Given the description of an element on the screen output the (x, y) to click on. 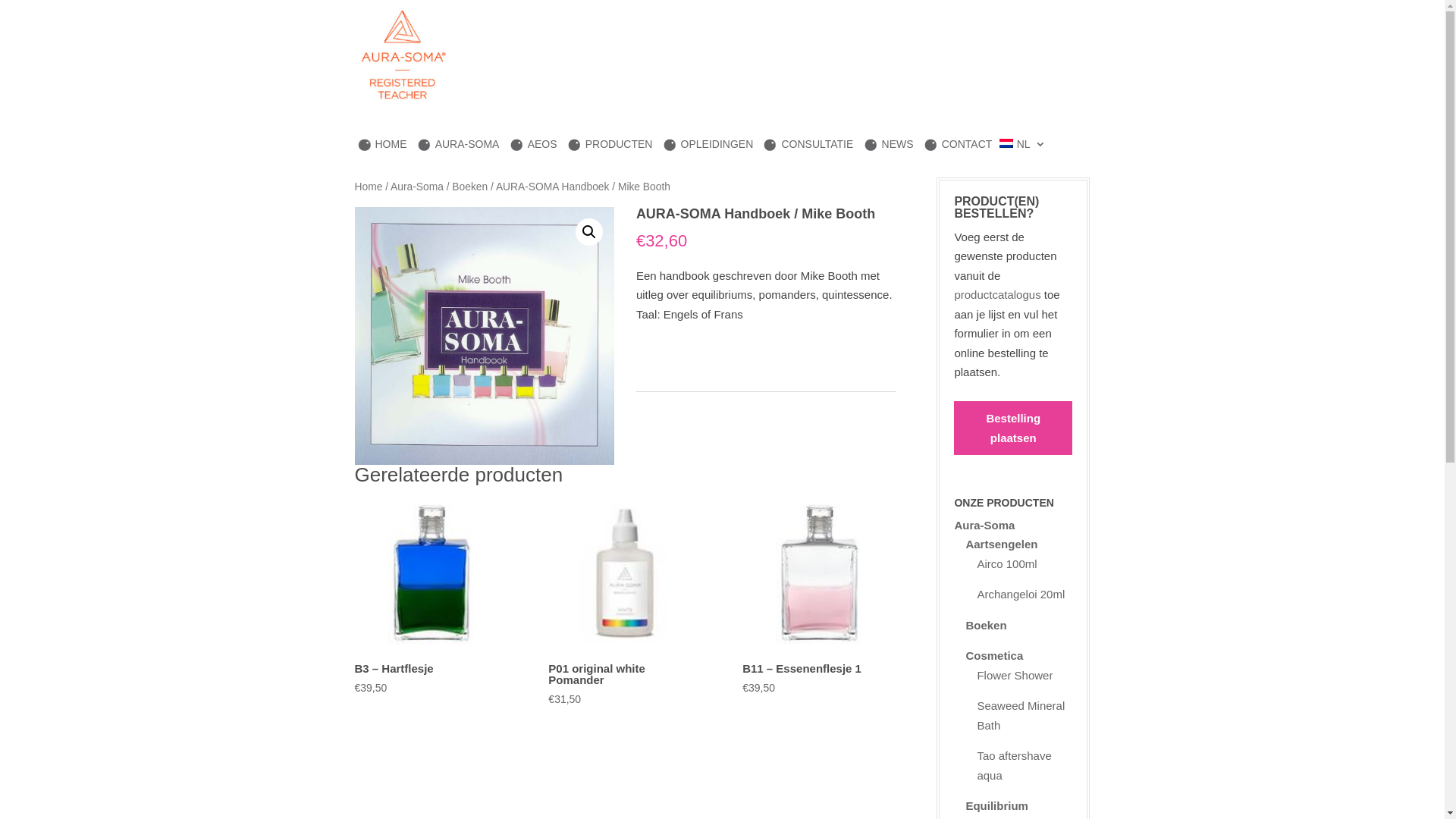
Seaweed Mineral Bath Element type: text (1020, 715)
PRODUCTEN Element type: text (609, 144)
CONSULTATIE Element type: text (807, 144)
Boeken Element type: text (985, 624)
Tao aftershave aqua Element type: text (1013, 765)
AURA-SOMA Element type: text (457, 144)
Bestelling plaatsen Element type: text (1012, 435)
Archangeloi 20ml Element type: text (1020, 593)
OPLEIDINGEN Element type: text (707, 144)
Home Element type: text (368, 186)
aura-soma handboek mike booth kleurentherapie Element type: hover (484, 335)
Aartsengelen Element type: text (1001, 543)
HOME Element type: text (381, 144)
Aura-Soma Element type: text (983, 524)
Equilibrium Element type: text (996, 805)
Boeken Element type: text (469, 186)
AEOS Element type: text (532, 144)
Cosmetica Element type: text (993, 655)
NEWS Element type: text (887, 144)
Flower Shower Element type: text (1014, 674)
CONTACT Element type: text (957, 144)
Aura-Soma Element type: text (416, 186)
Airco 100ml Element type: text (1006, 563)
NL Element type: text (1021, 144)
productcatalogus Element type: text (996, 294)
